Given the description of an element on the screen output the (x, y) to click on. 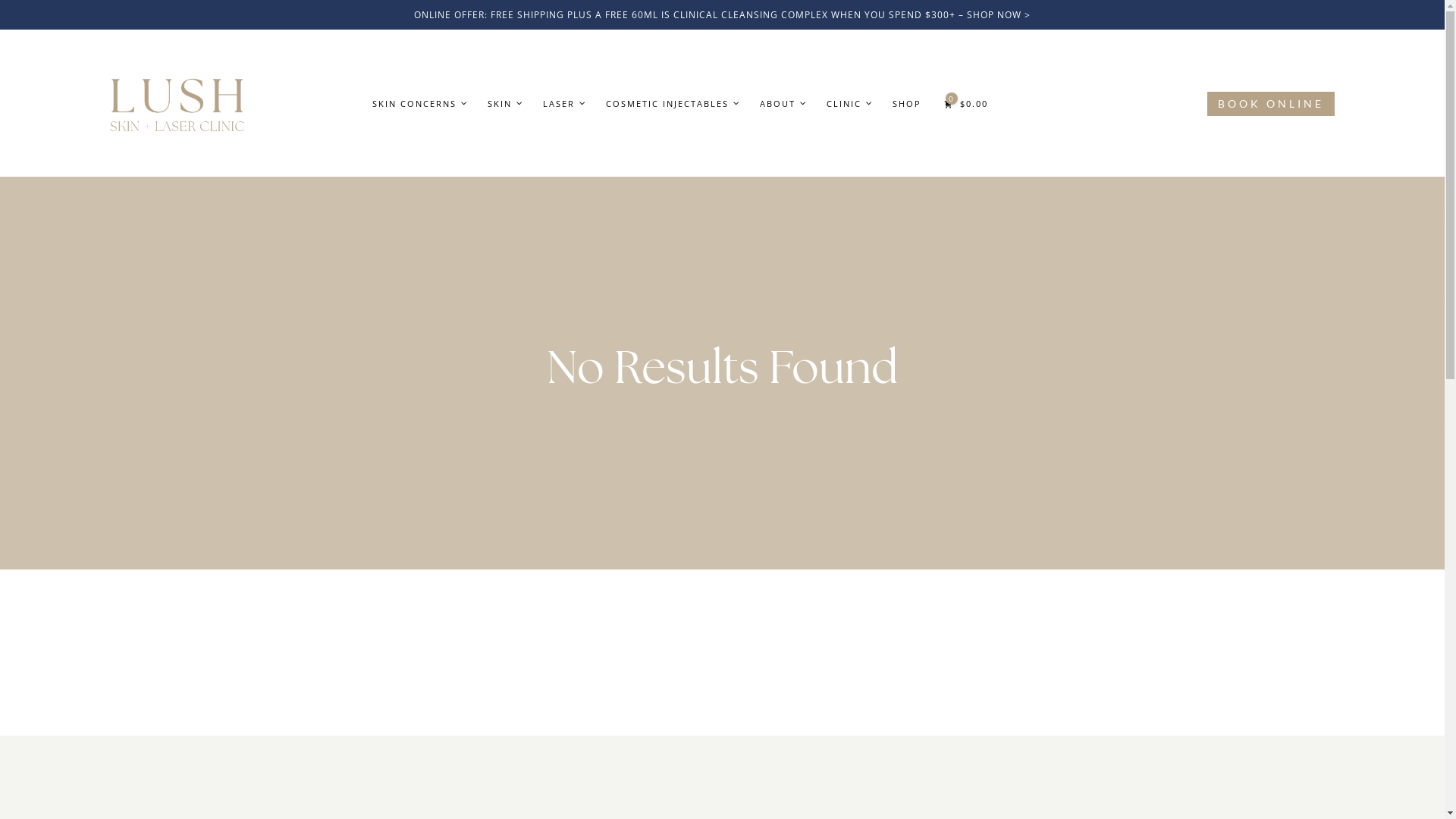
SHOP Element type: text (906, 102)
lush new logo Element type: hover (176, 103)
CLINIC Element type: text (848, 102)
BOOK ONLINE Element type: text (1270, 103)
SKIN CONCERNS Element type: text (418, 102)
SKIN Element type: text (503, 102)
0
$0.00 Element type: text (965, 102)
LASER Element type: text (562, 102)
COSMETIC INJECTABLES Element type: text (671, 102)
ABOUT Element type: text (781, 102)
